Given the description of an element on the screen output the (x, y) to click on. 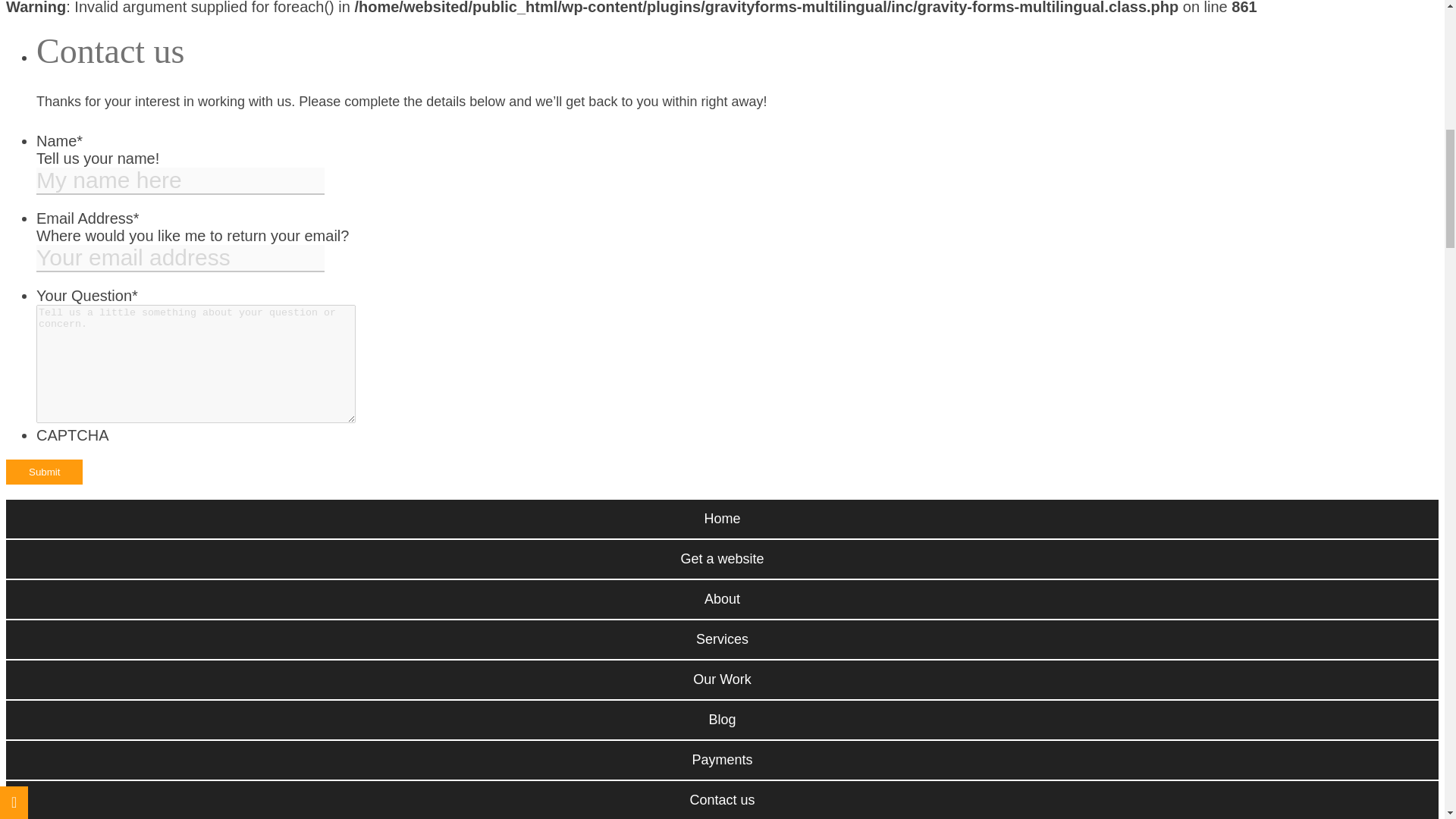
Submit (43, 471)
Submit (43, 471)
